Given the description of an element on the screen output the (x, y) to click on. 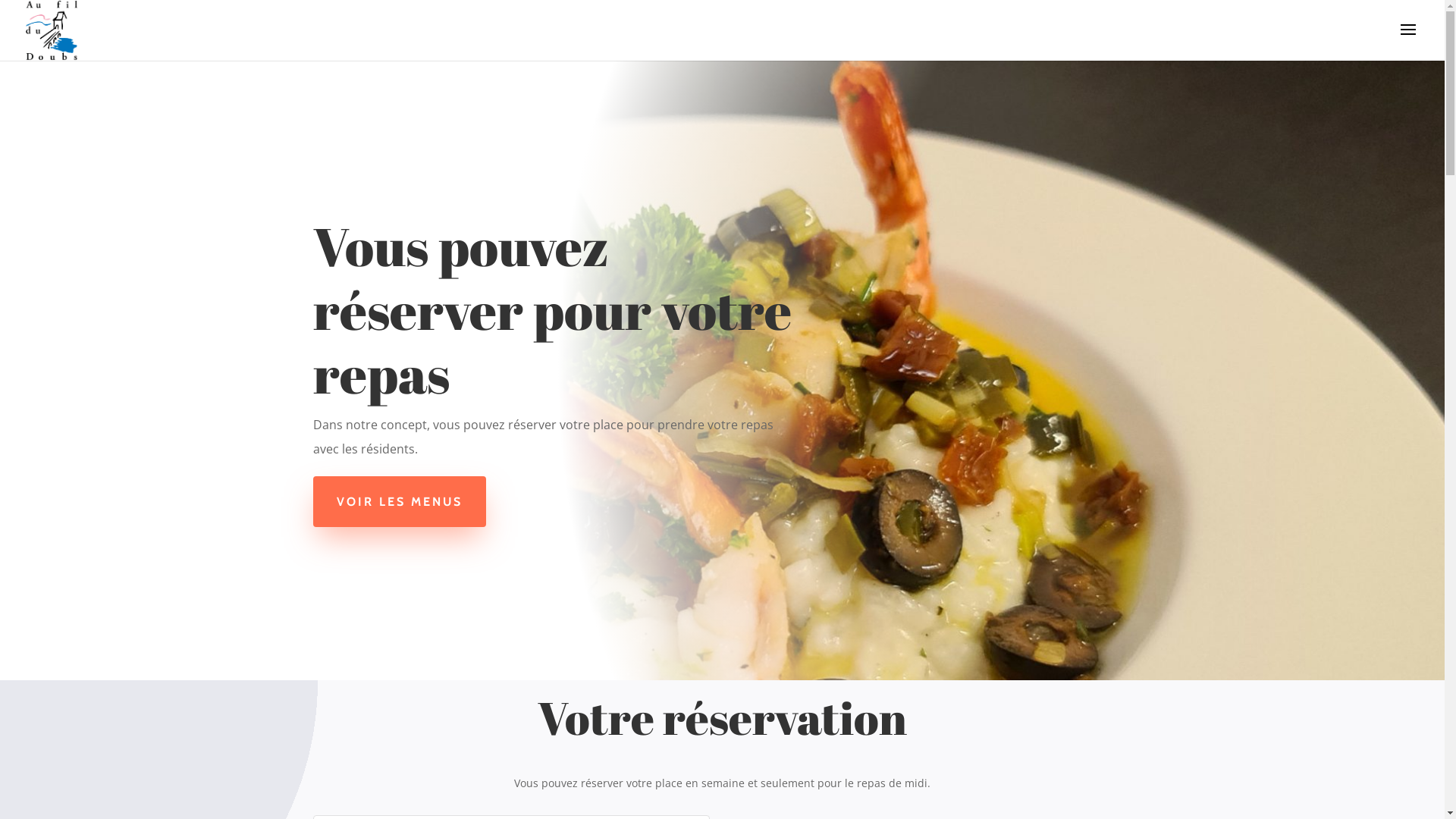
VOIR LES MENUS Element type: text (398, 501)
